Given the description of an element on the screen output the (x, y) to click on. 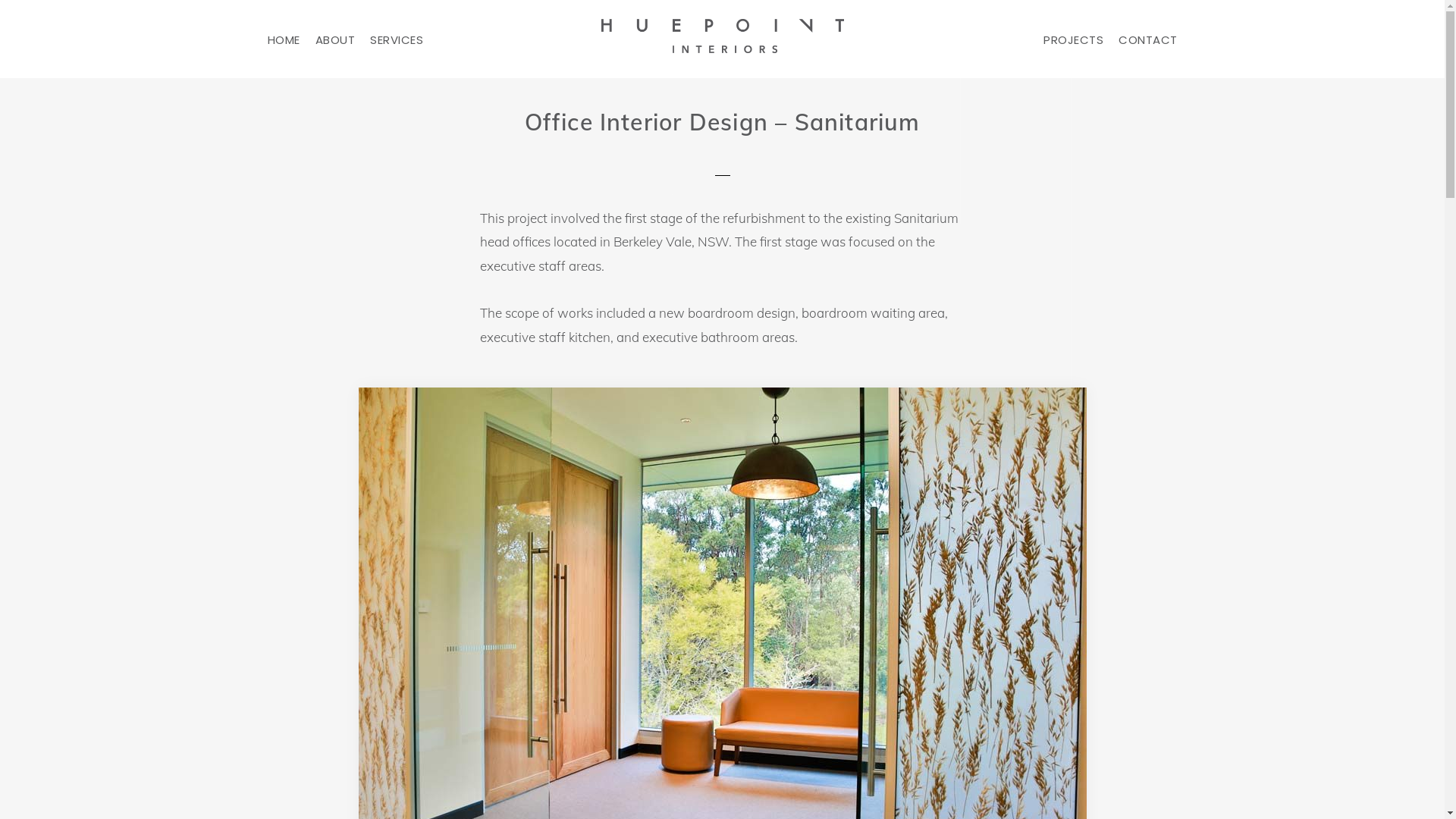
CONTACT Element type: text (1147, 38)
Skip to primary navigation Element type: text (0, 0)
HOME Element type: text (283, 38)
ABOUT Element type: text (335, 38)
PROJECTS Element type: text (1072, 38)
SERVICES Element type: text (396, 38)
